Given the description of an element on the screen output the (x, y) to click on. 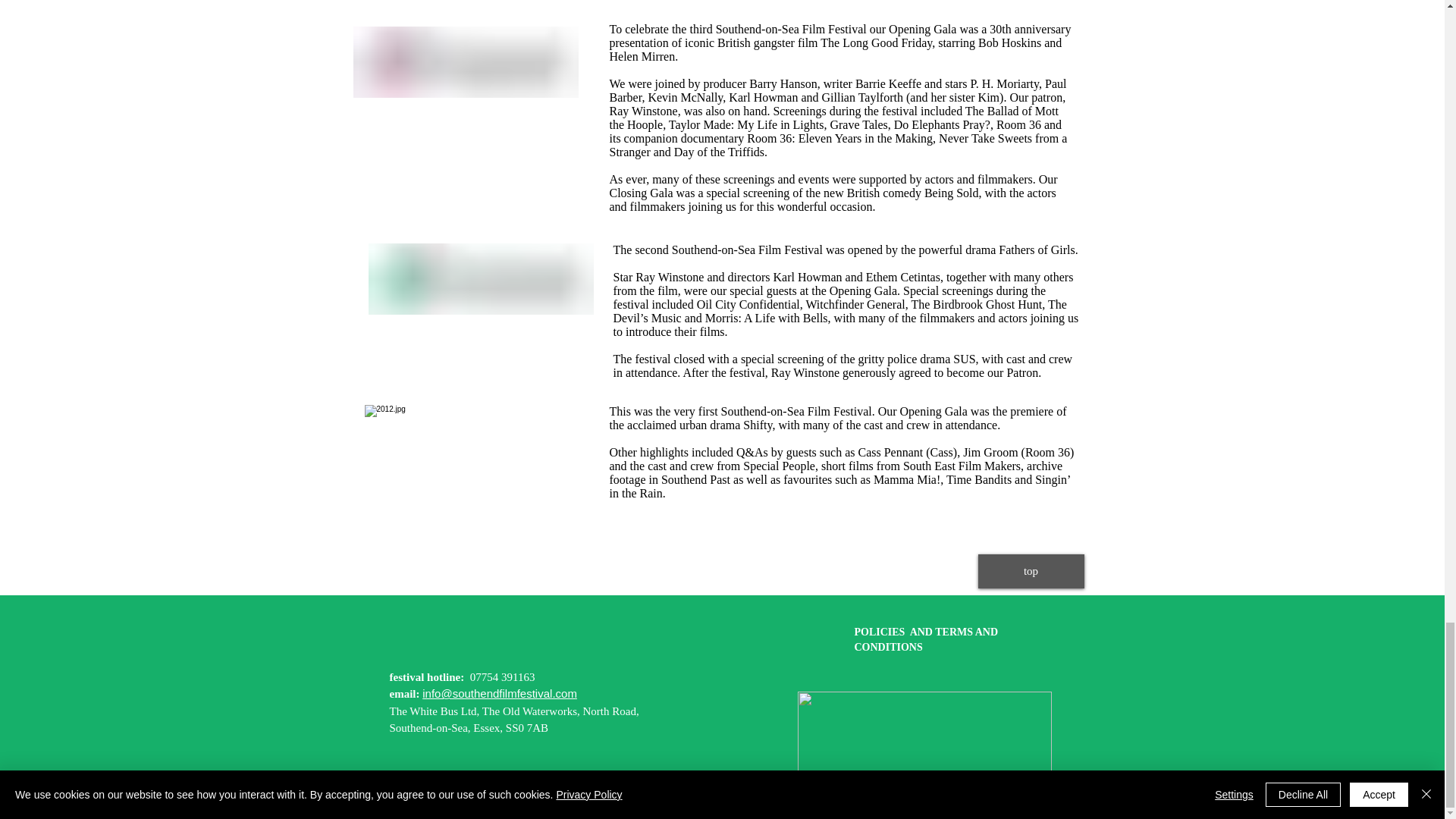
top (1031, 571)
POLICIES  AND TERMS AND CONDITIONS (925, 639)
